Given the description of an element on the screen output the (x, y) to click on. 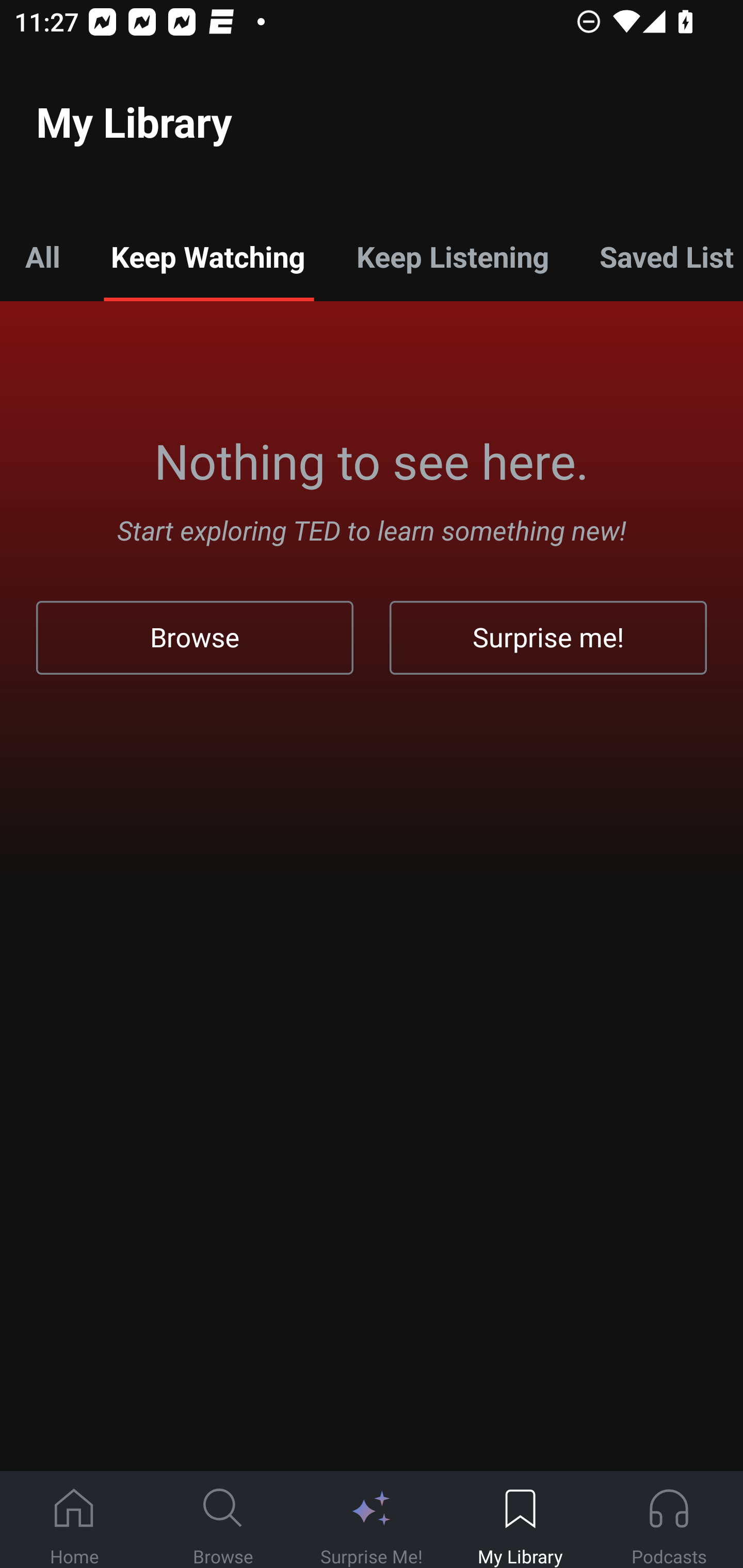
All (42, 256)
Keep Watching (207, 256)
Keep Listening (452, 256)
Saved List (658, 256)
Browse (194, 637)
Surprise me! (547, 637)
Home (74, 1520)
Browse (222, 1520)
Surprise Me! (371, 1520)
My Library (519, 1520)
Podcasts (668, 1520)
